Given the description of an element on the screen output the (x, y) to click on. 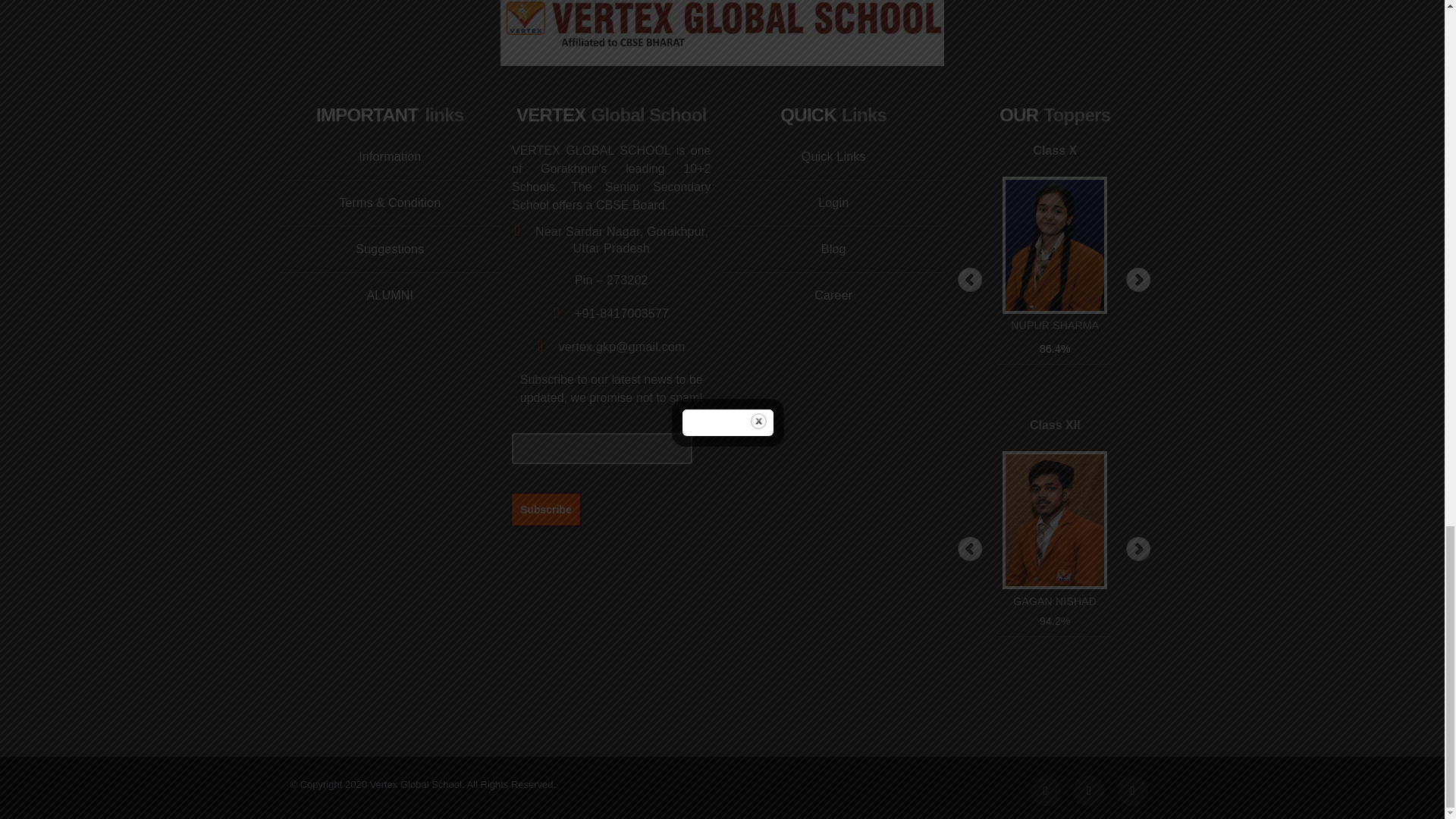
Subscribe (545, 508)
